Given the description of an element on the screen output the (x, y) to click on. 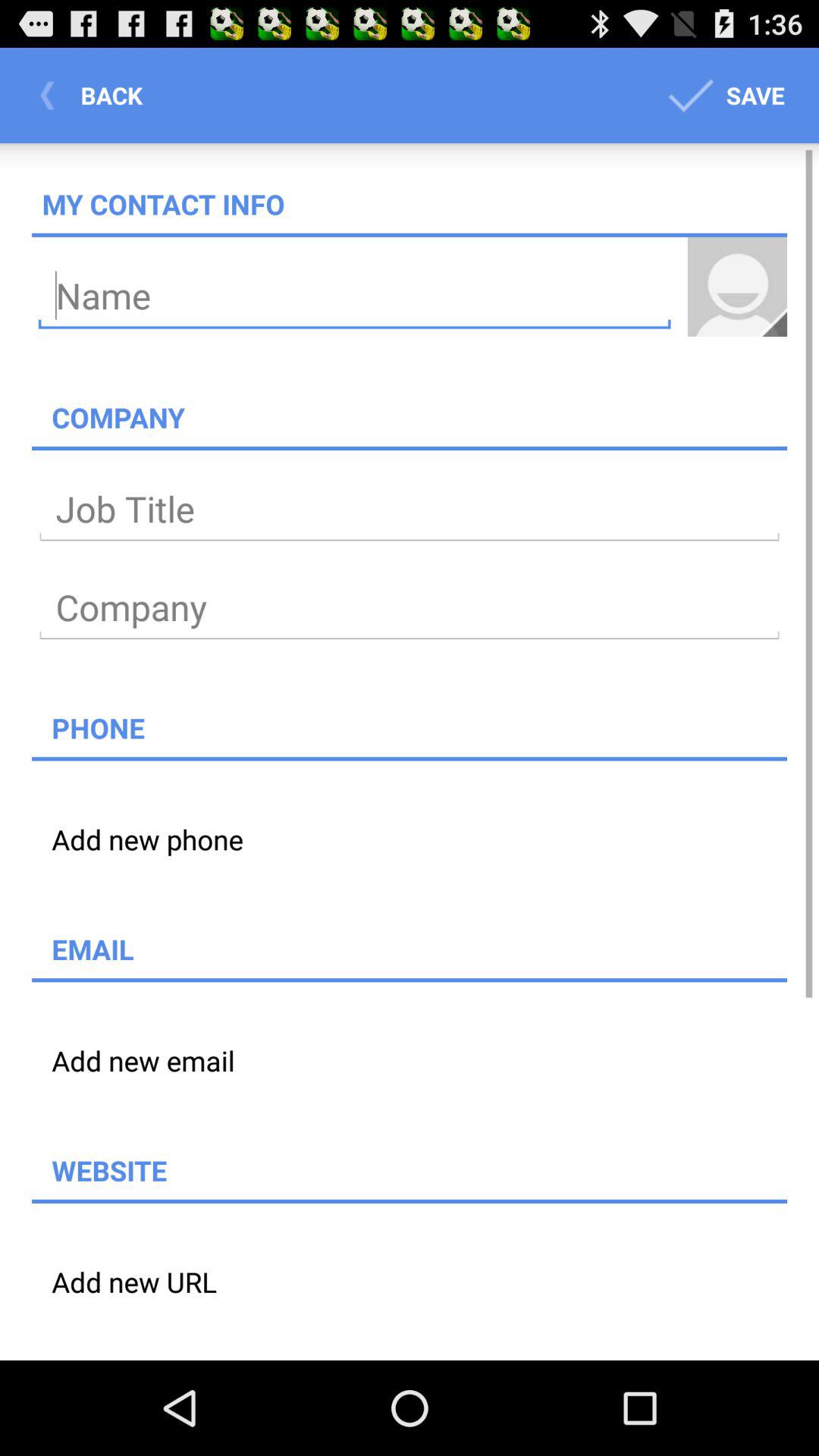
text box (409, 509)
